Given the description of an element on the screen output the (x, y) to click on. 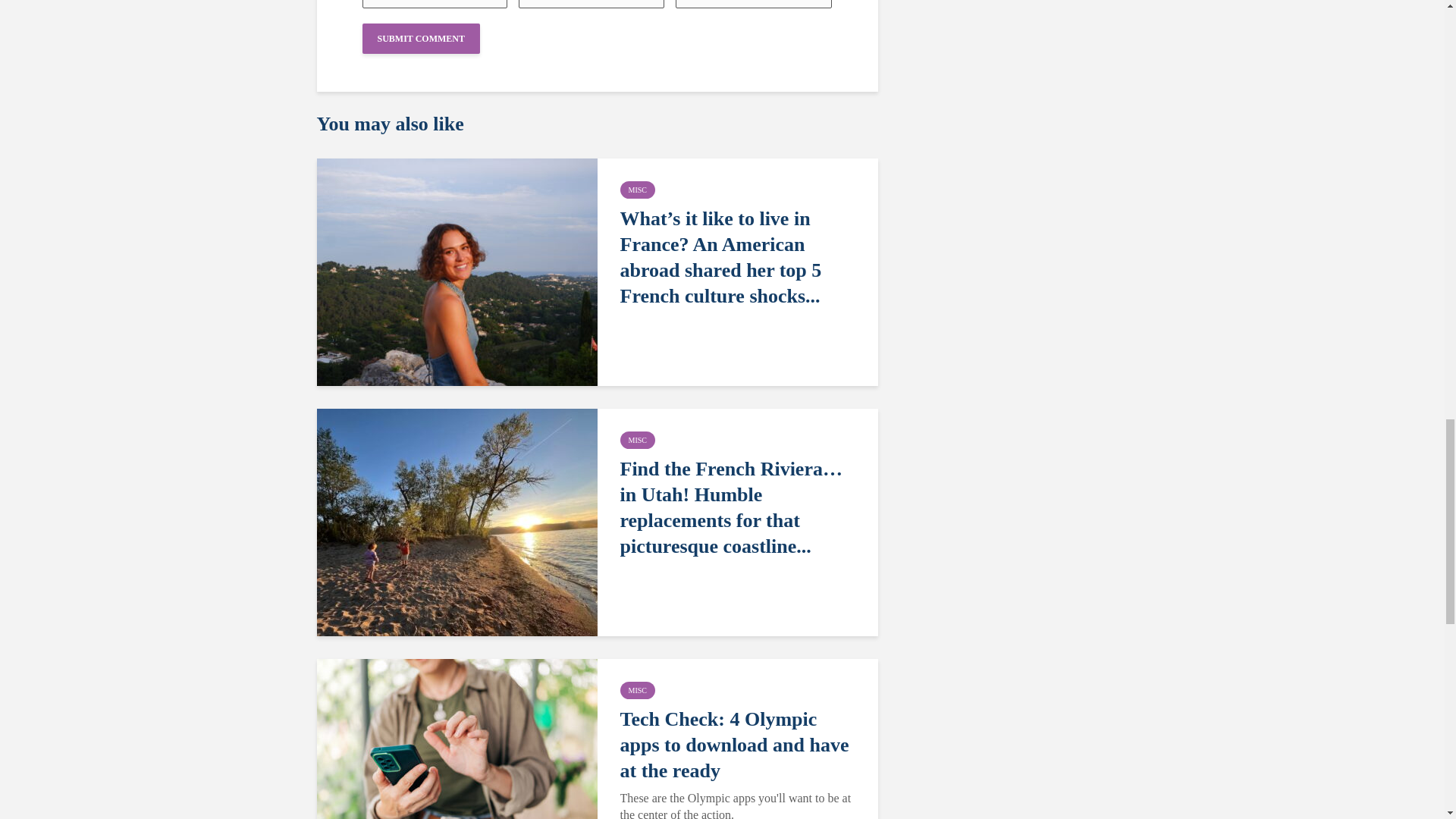
MISC (637, 690)
MISC (637, 439)
Tech Check: 4 Olympic apps to download and have at the ready (456, 771)
Submit Comment (421, 38)
Tech Check: 4 Olympic apps to download and have at the ready (740, 744)
MISC (637, 189)
Submit Comment (421, 38)
